Given the description of an element on the screen output the (x, y) to click on. 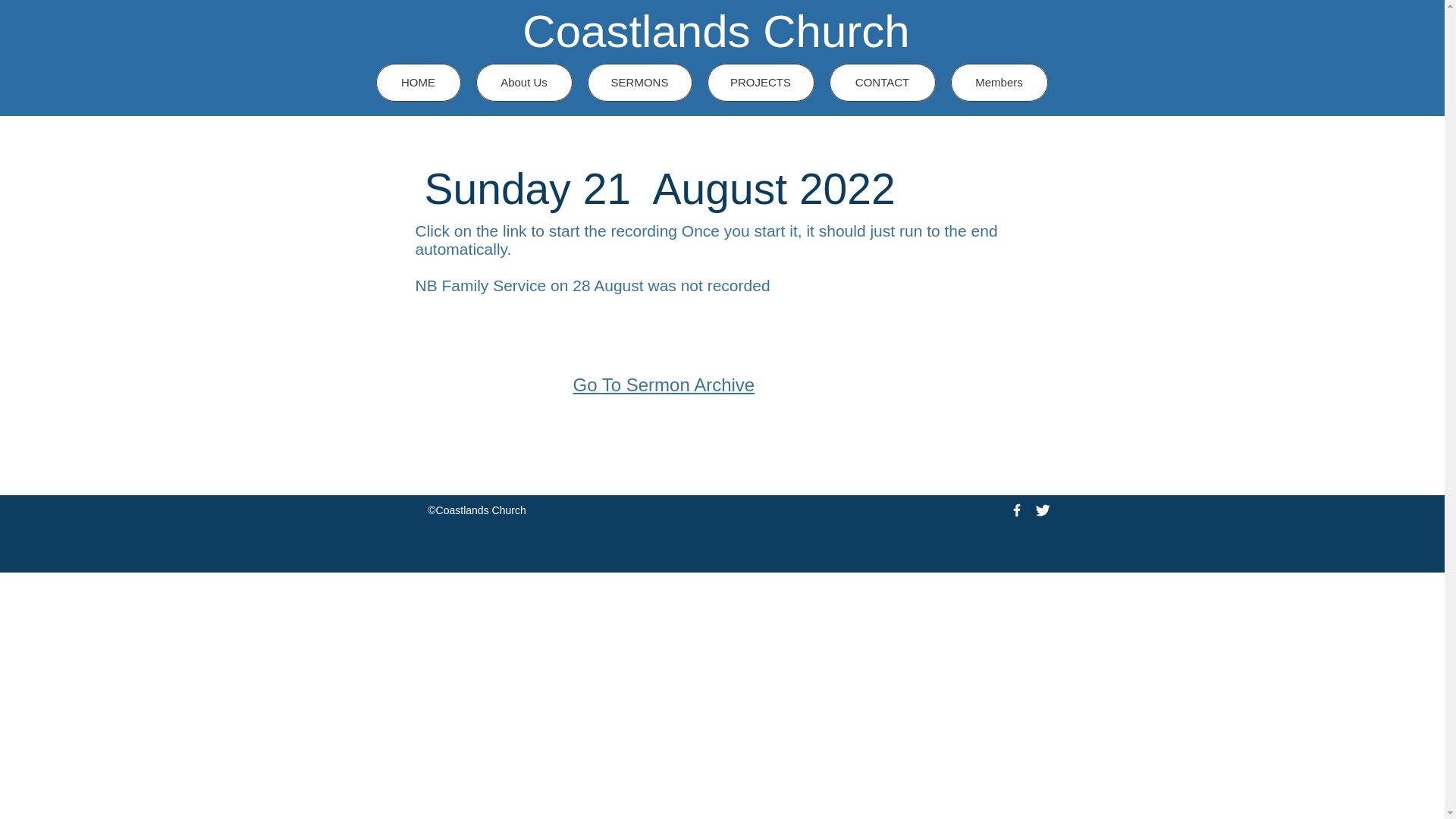
Members (999, 82)
Coastlands Church (715, 30)
SERMONS (638, 82)
CONTACT (882, 82)
About Us (524, 82)
PROJECTS (759, 82)
Go To Sermon Archive (664, 384)
HOME (418, 82)
